Given the description of an element on the screen output the (x, y) to click on. 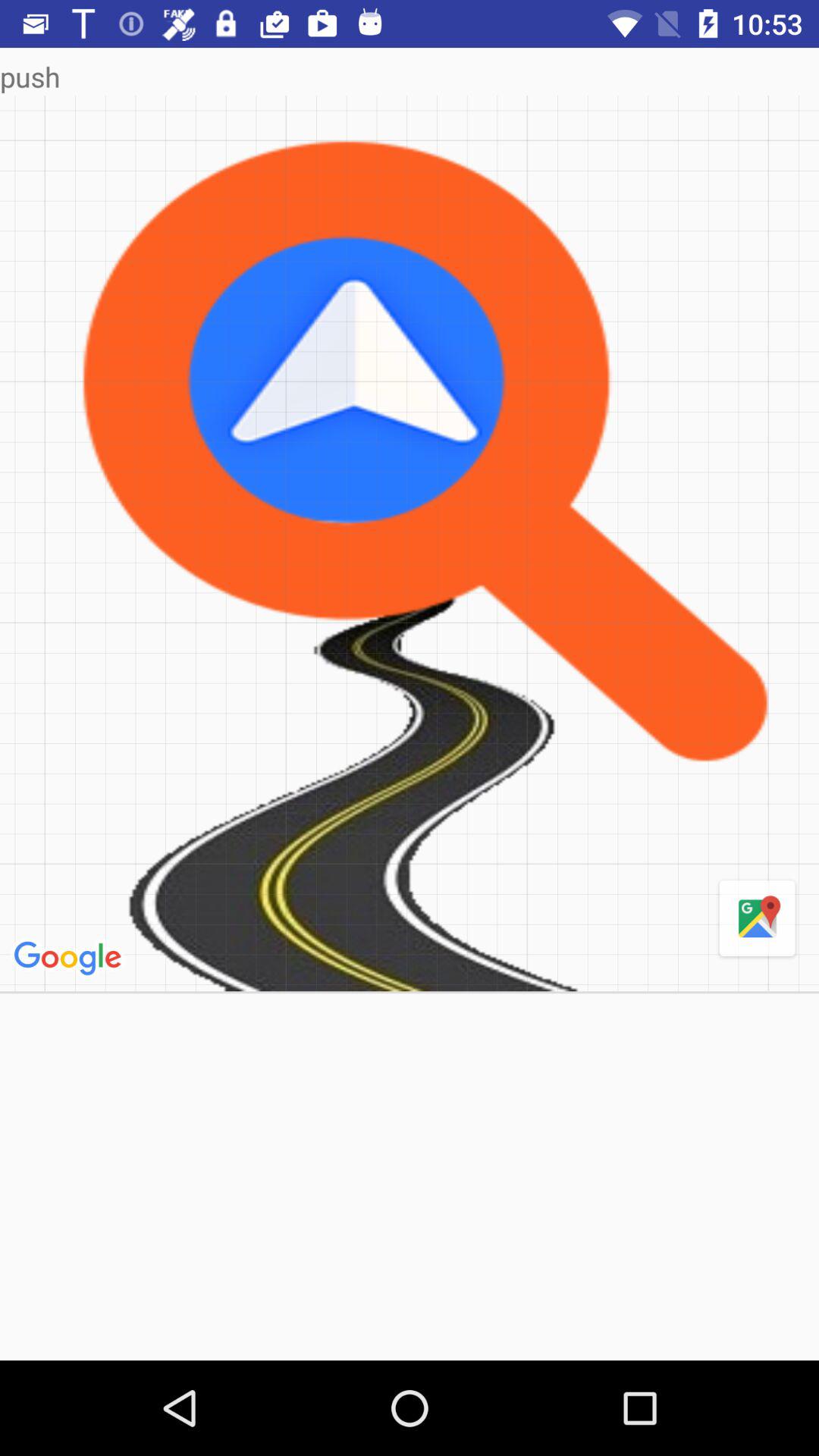
click the item below push icon (69, 959)
